Given the description of an element on the screen output the (x, y) to click on. 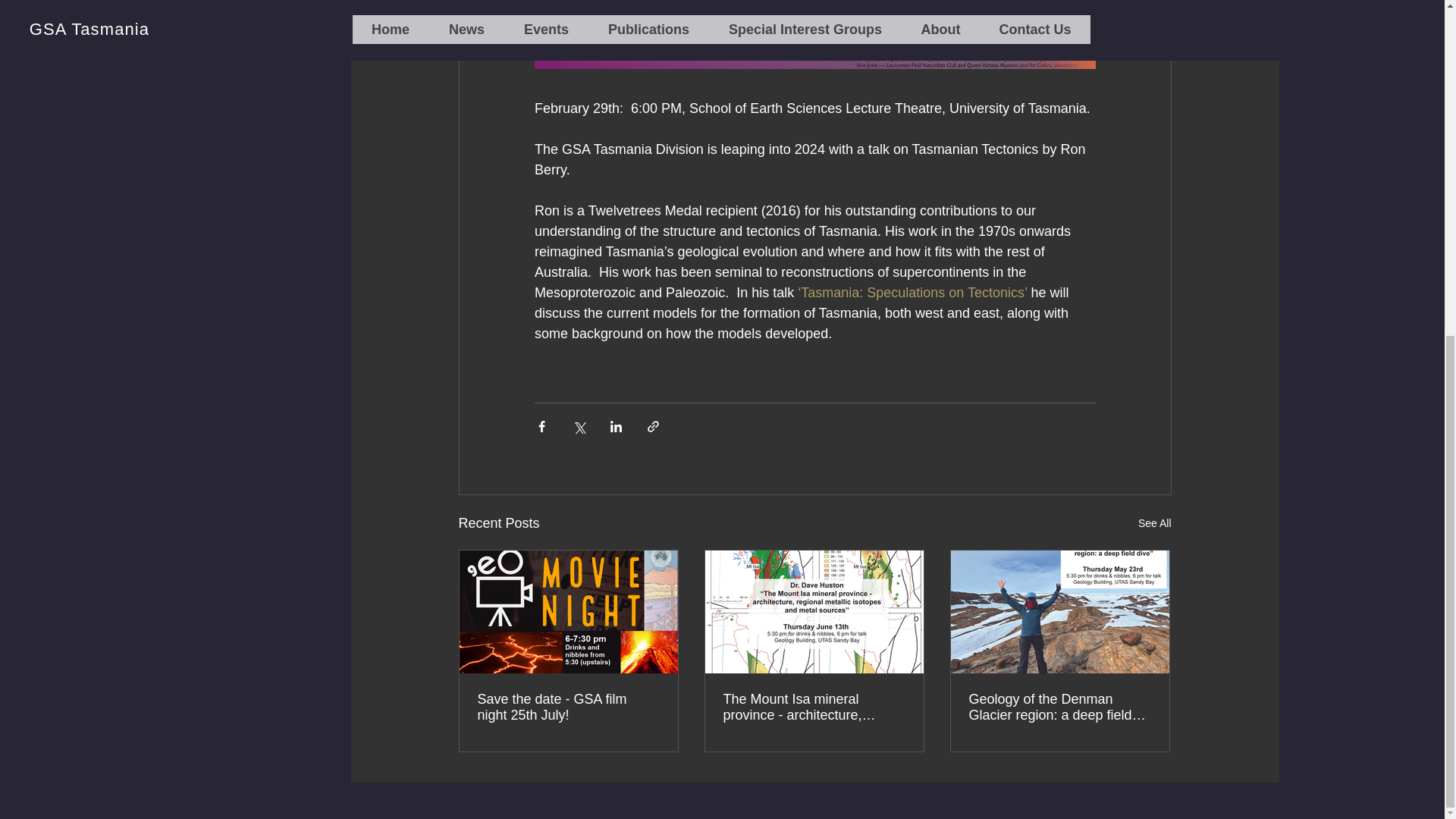
See All (1155, 523)
Geology of the Denman Glacier region: a deep field dive (1060, 707)
Save the date - GSA film night 25th July! (568, 707)
